Given the description of an element on the screen output the (x, y) to click on. 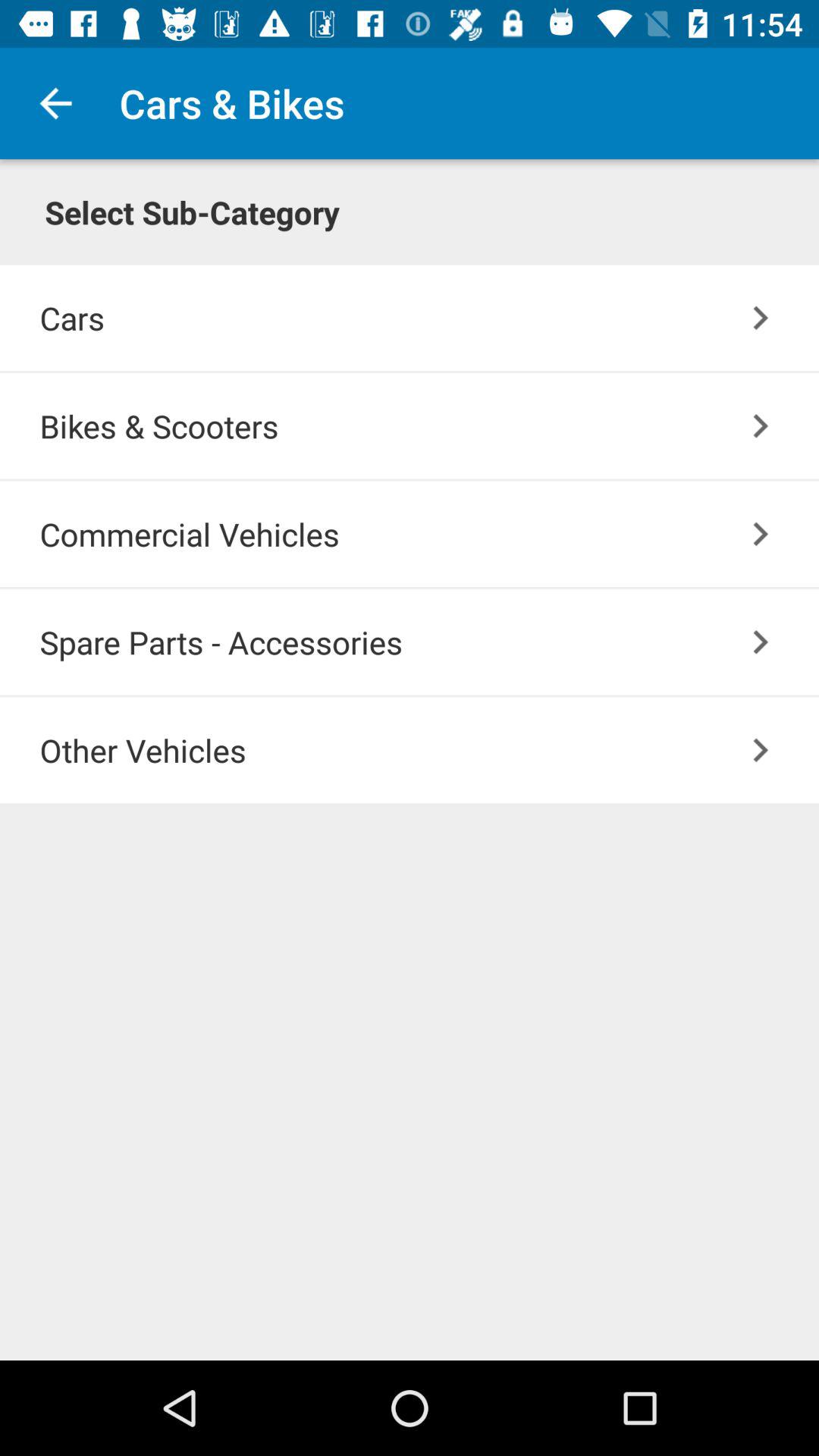
tap the spare parts - accessories (429, 642)
